Given the description of an element on the screen output the (x, y) to click on. 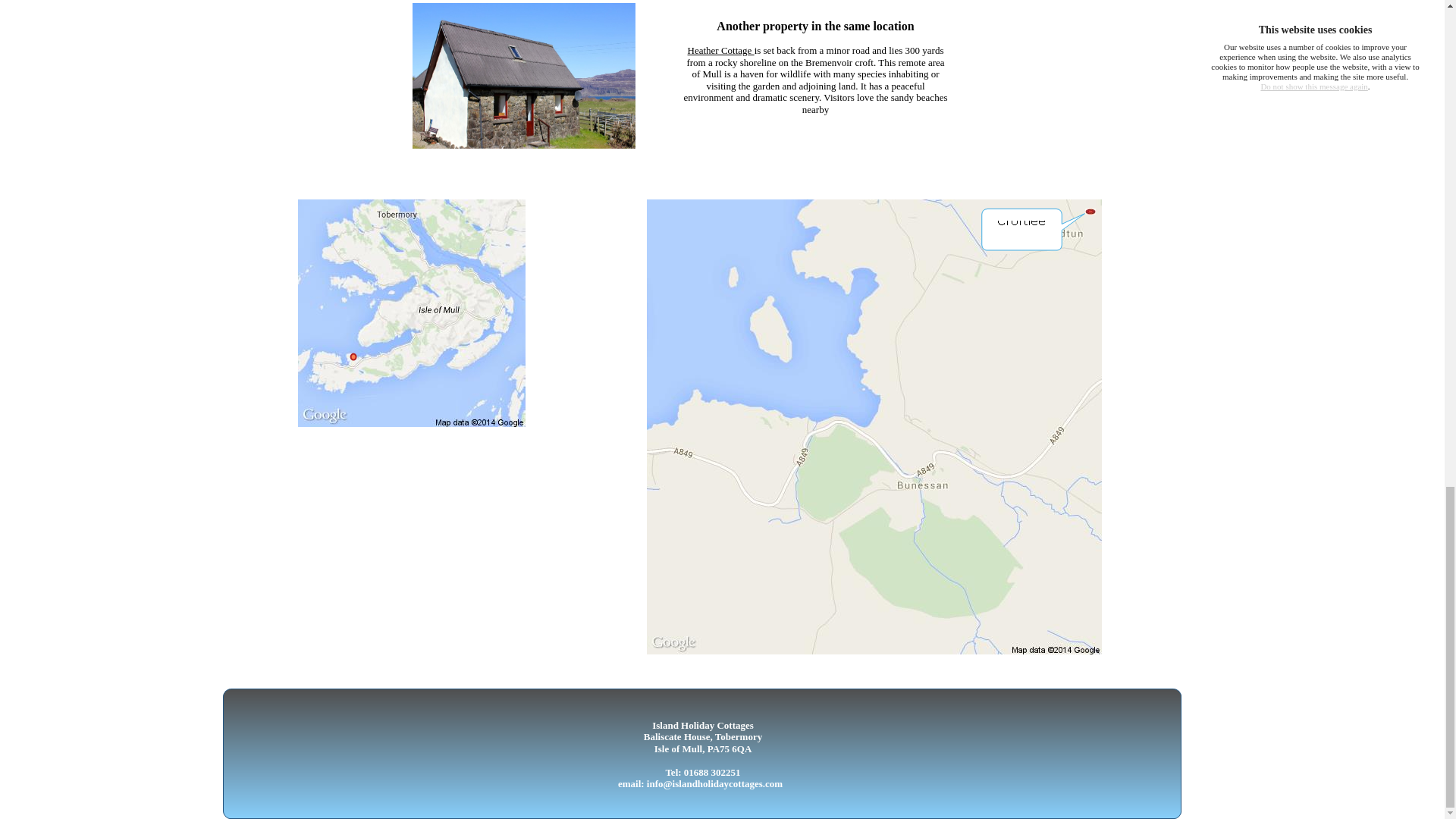
Heather Cottage (720, 50)
